Given the description of an element on the screen output the (x, y) to click on. 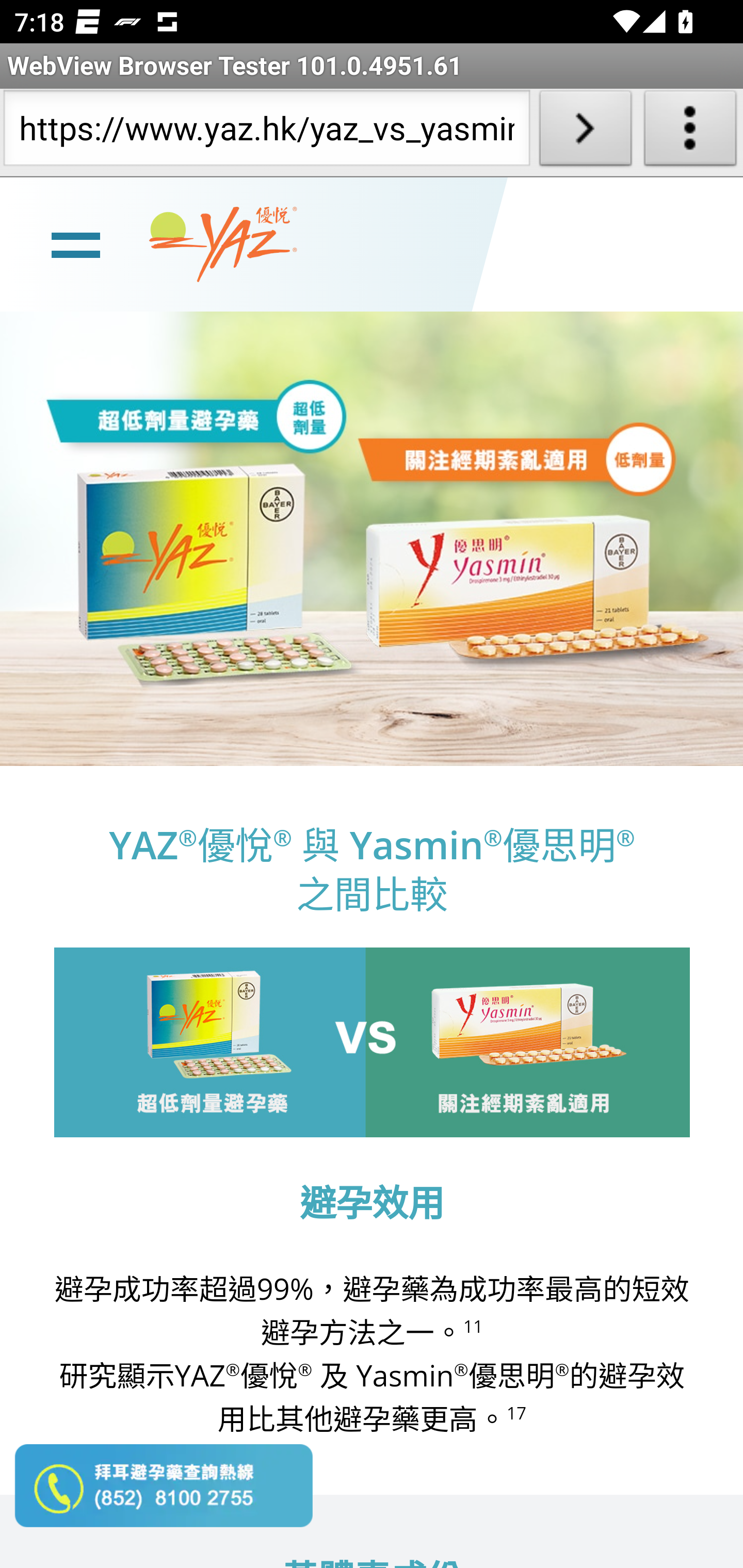
Load URL (585, 132)
About WebView (690, 132)
www.yaz (222, 244)
line Toggle burger menu (75, 242)
